Given the description of an element on the screen output the (x, y) to click on. 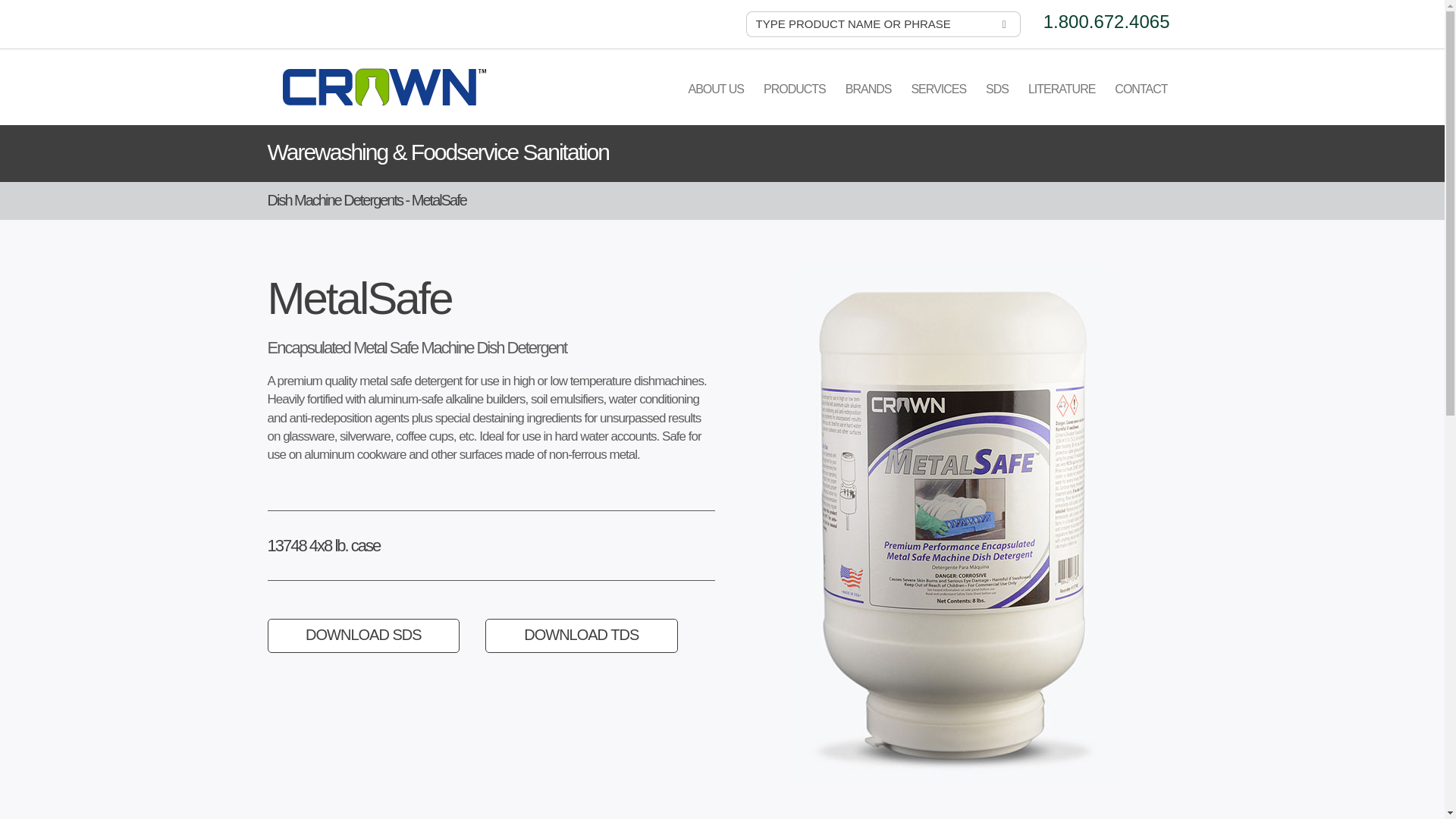
PRODUCTS (794, 99)
BRANDS (868, 99)
LITERATURE (1061, 99)
ABOUT US (716, 99)
CONTACT (1140, 99)
SERVICES (938, 99)
SDS (996, 99)
